Given the description of an element on the screen output the (x, y) to click on. 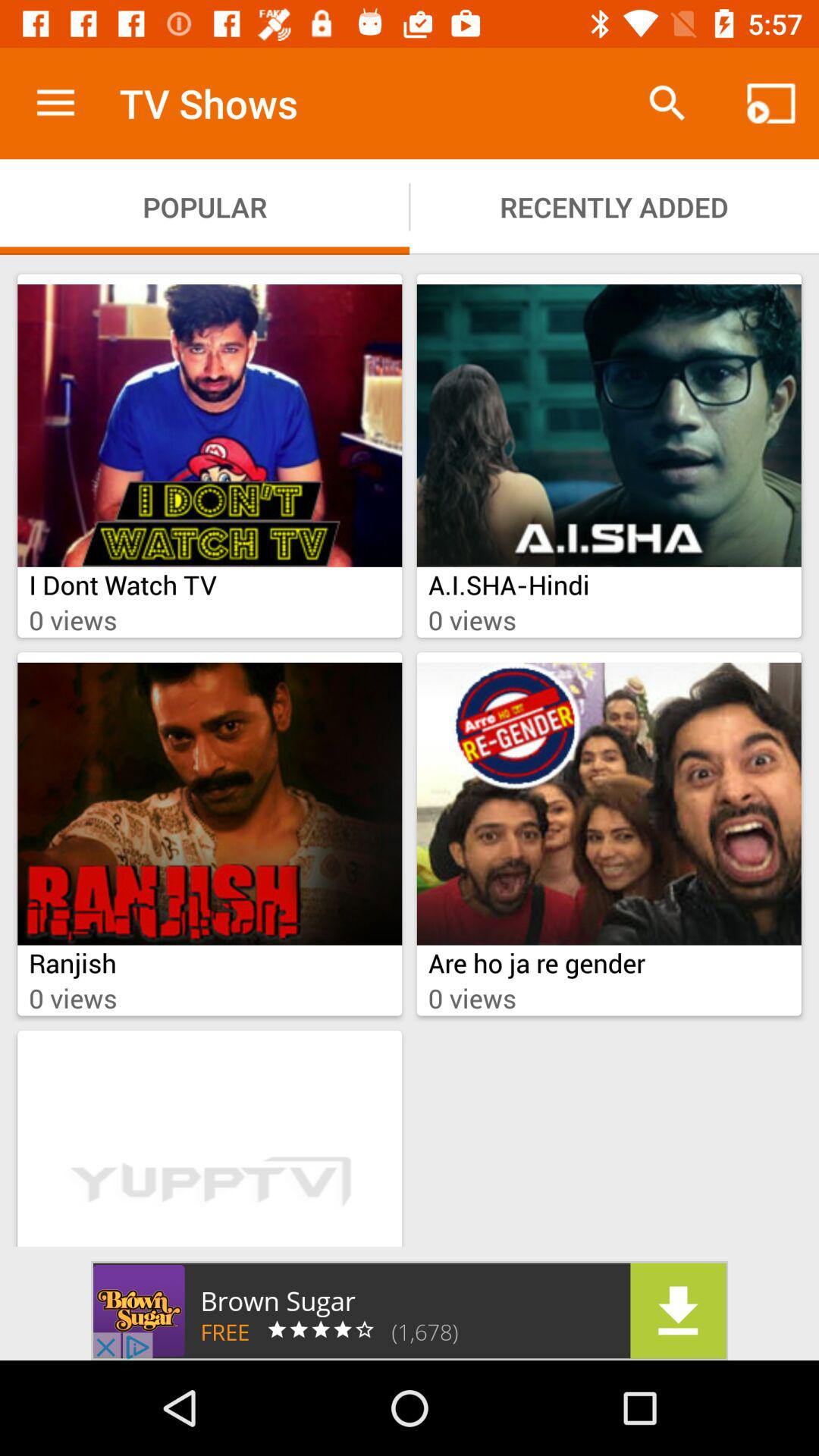
go to advertisement (409, 1310)
